Given the description of an element on the screen output the (x, y) to click on. 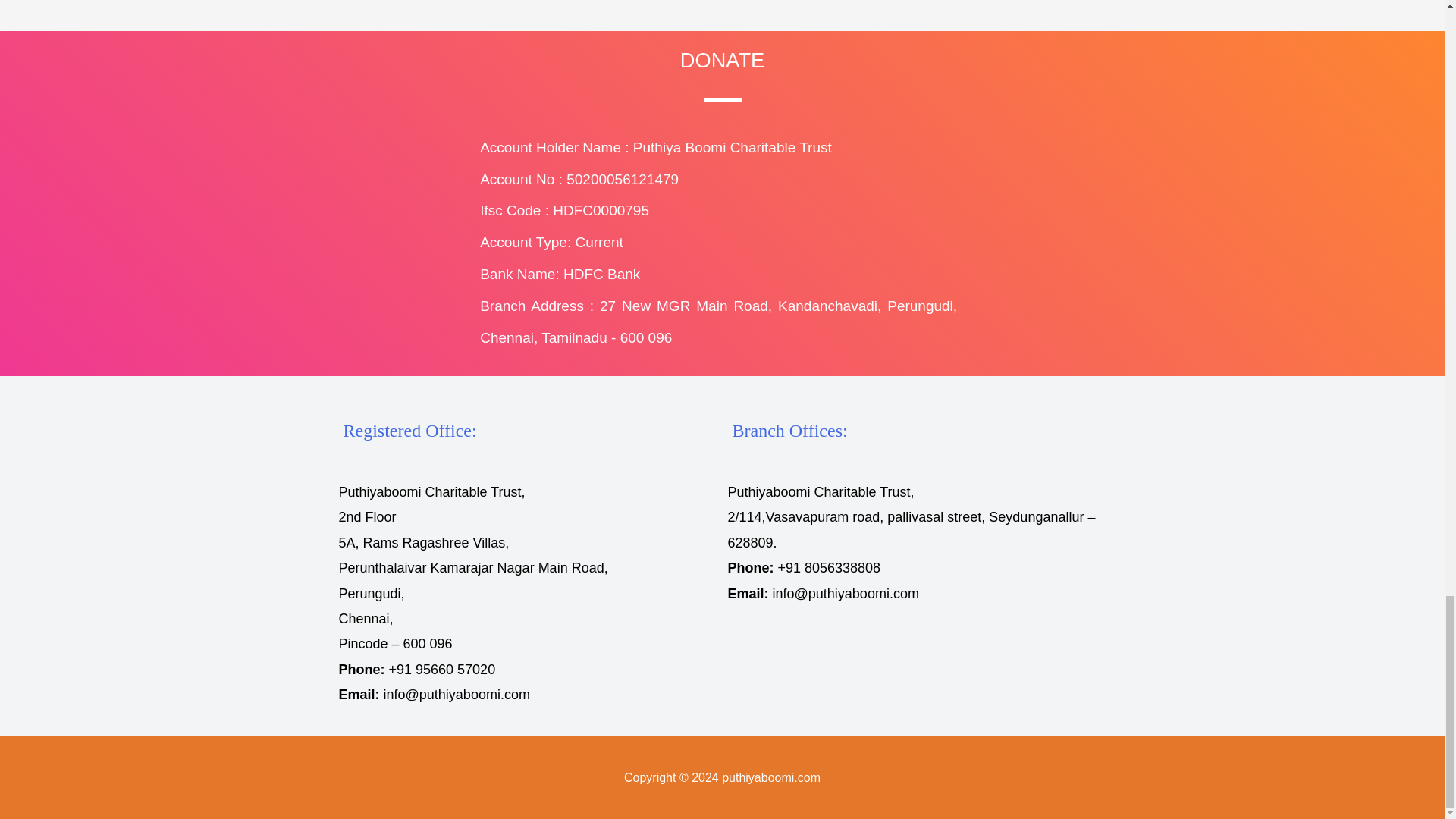
Registered Office: (409, 430)
Branch Offices: (789, 430)
Registered Office (409, 430)
Branch Offices (789, 430)
